Given the description of an element on the screen output the (x, y) to click on. 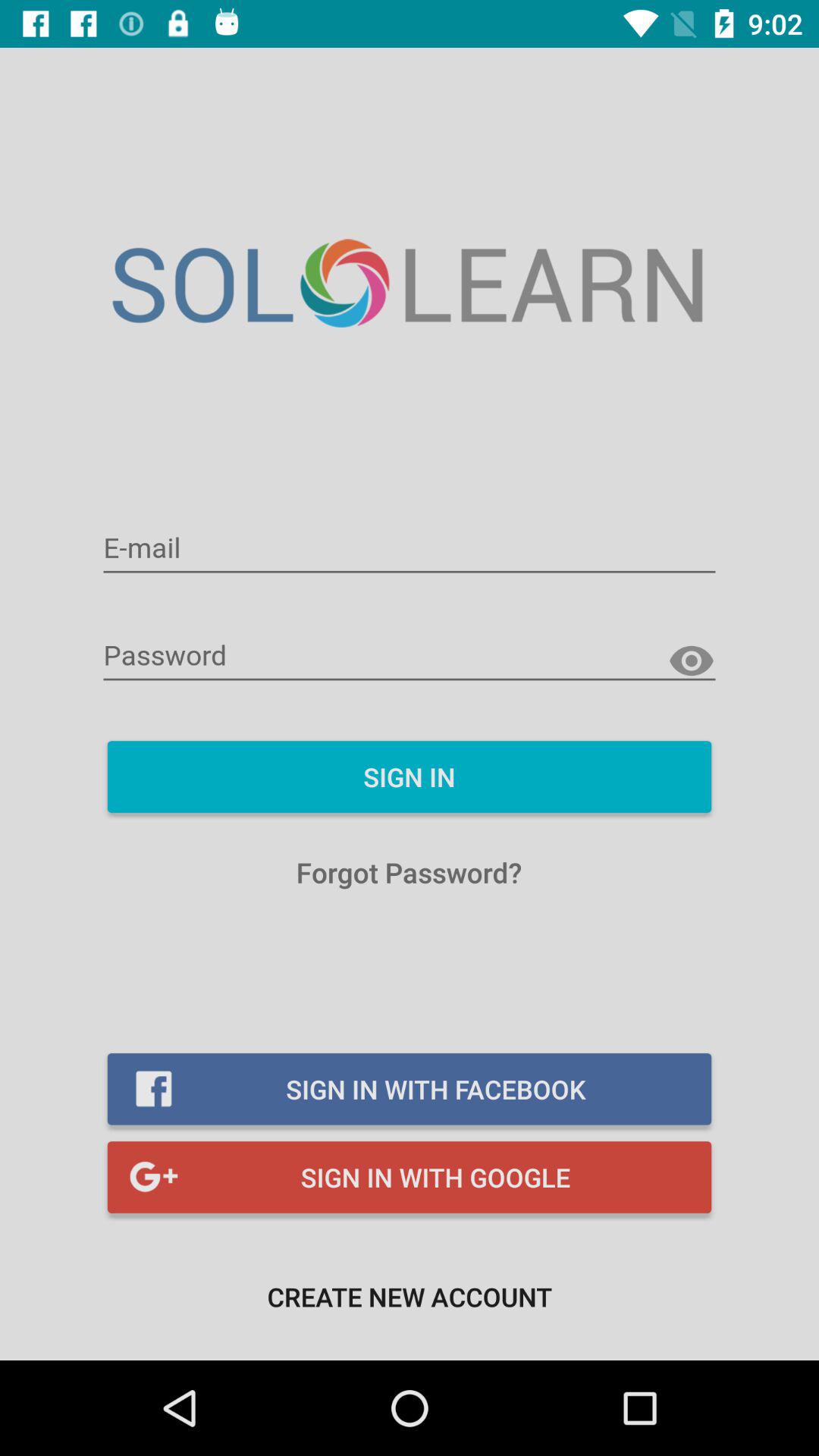
enter e-mail (409, 548)
